Given the description of an element on the screen output the (x, y) to click on. 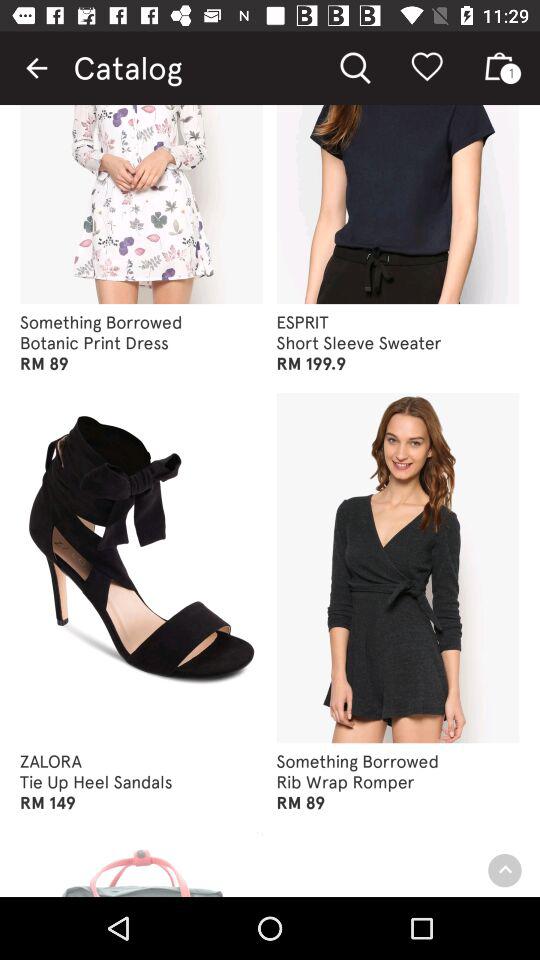
turn off item to the left of the catalog (36, 68)
